Given the description of an element on the screen output the (x, y) to click on. 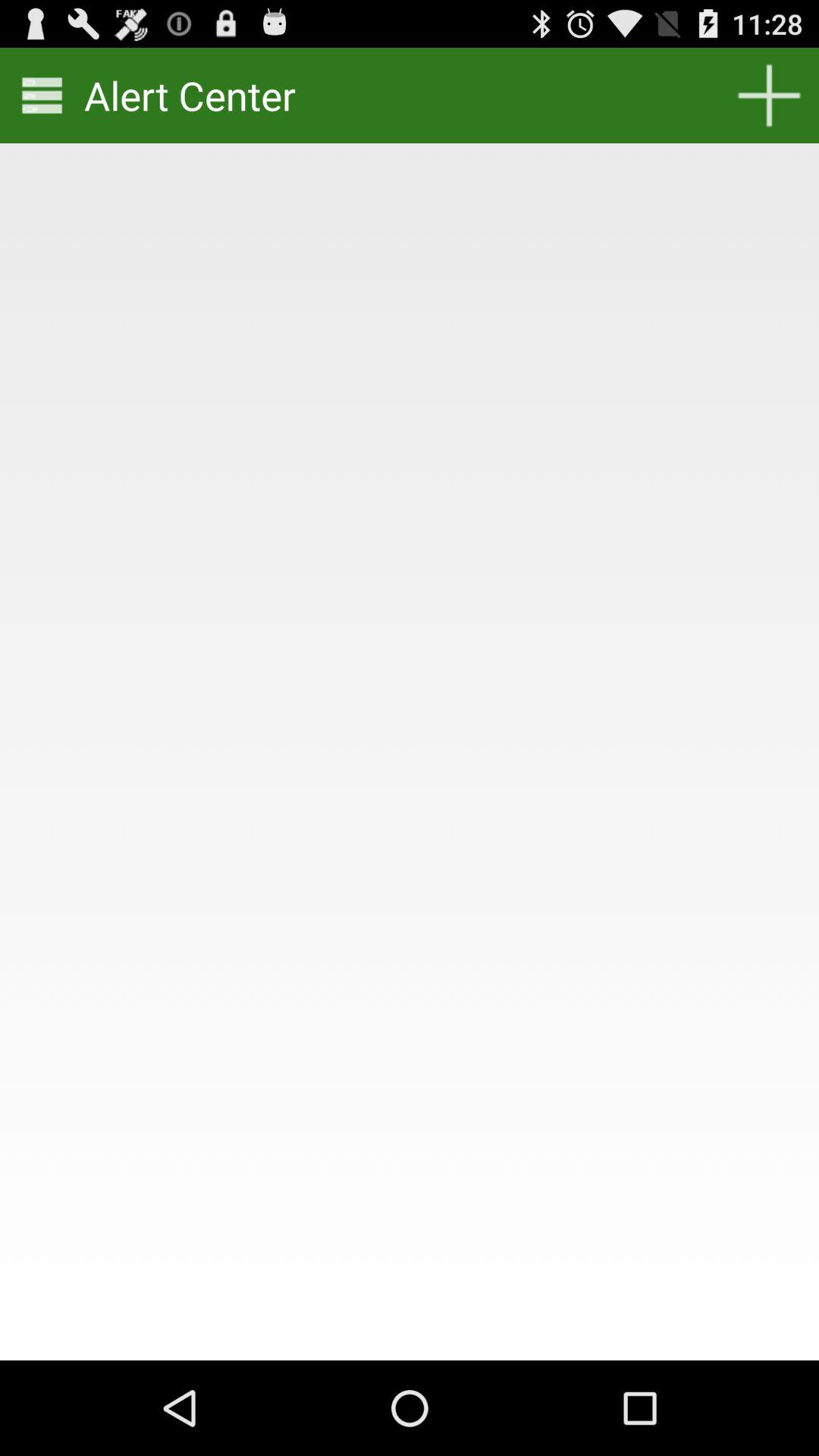
press the item next to the alert center app (41, 95)
